Given the description of an element on the screen output the (x, y) to click on. 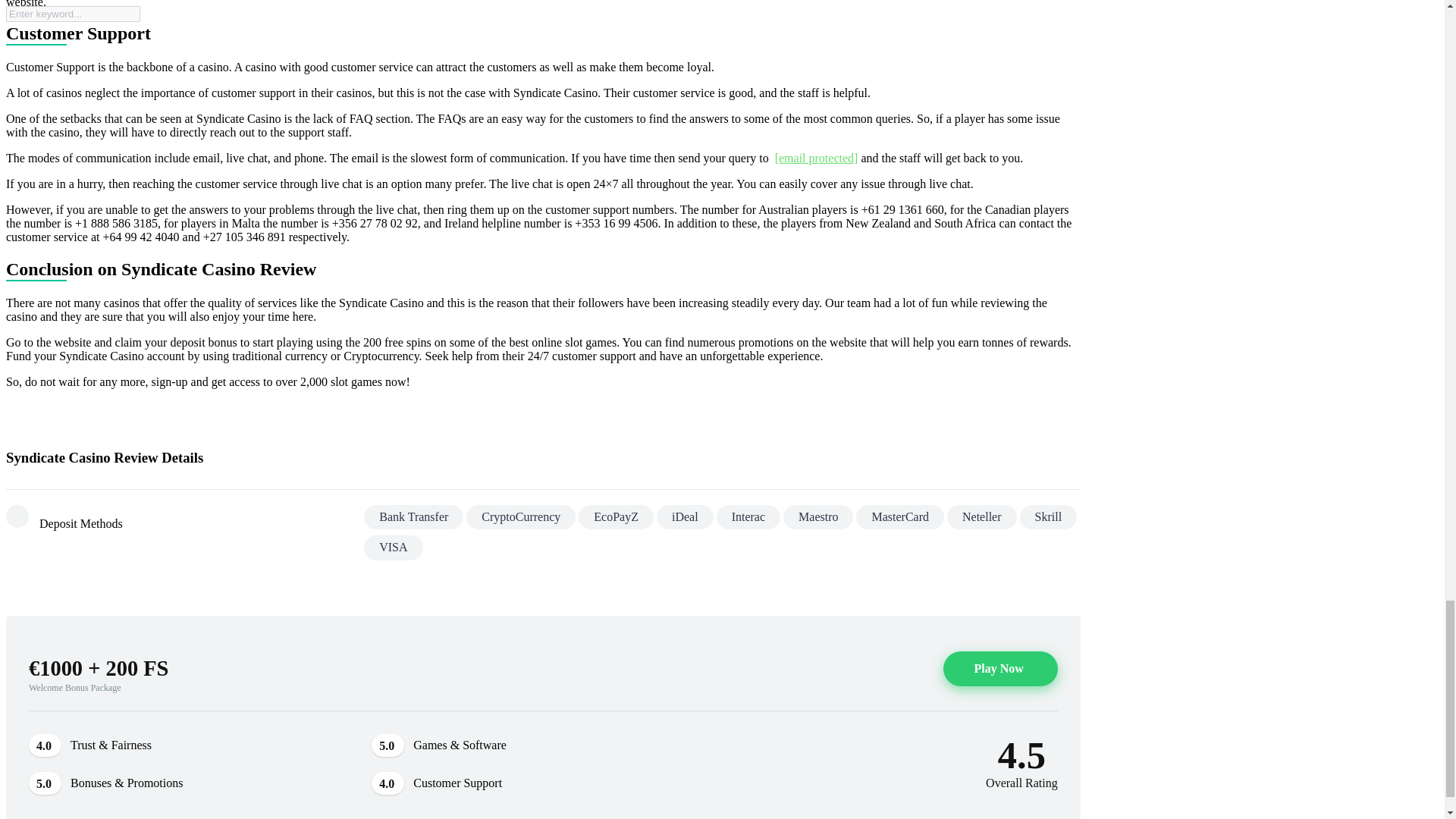
EcoPayZ (615, 517)
Maestro (818, 517)
CryptoCurrency (520, 517)
VISA (393, 547)
Bank Transfer (413, 517)
Skrill (1048, 517)
iDeal (684, 517)
Play Now (1000, 668)
MasterCard (899, 517)
Interac (748, 517)
Neteller (981, 517)
